Given the description of an element on the screen output the (x, y) to click on. 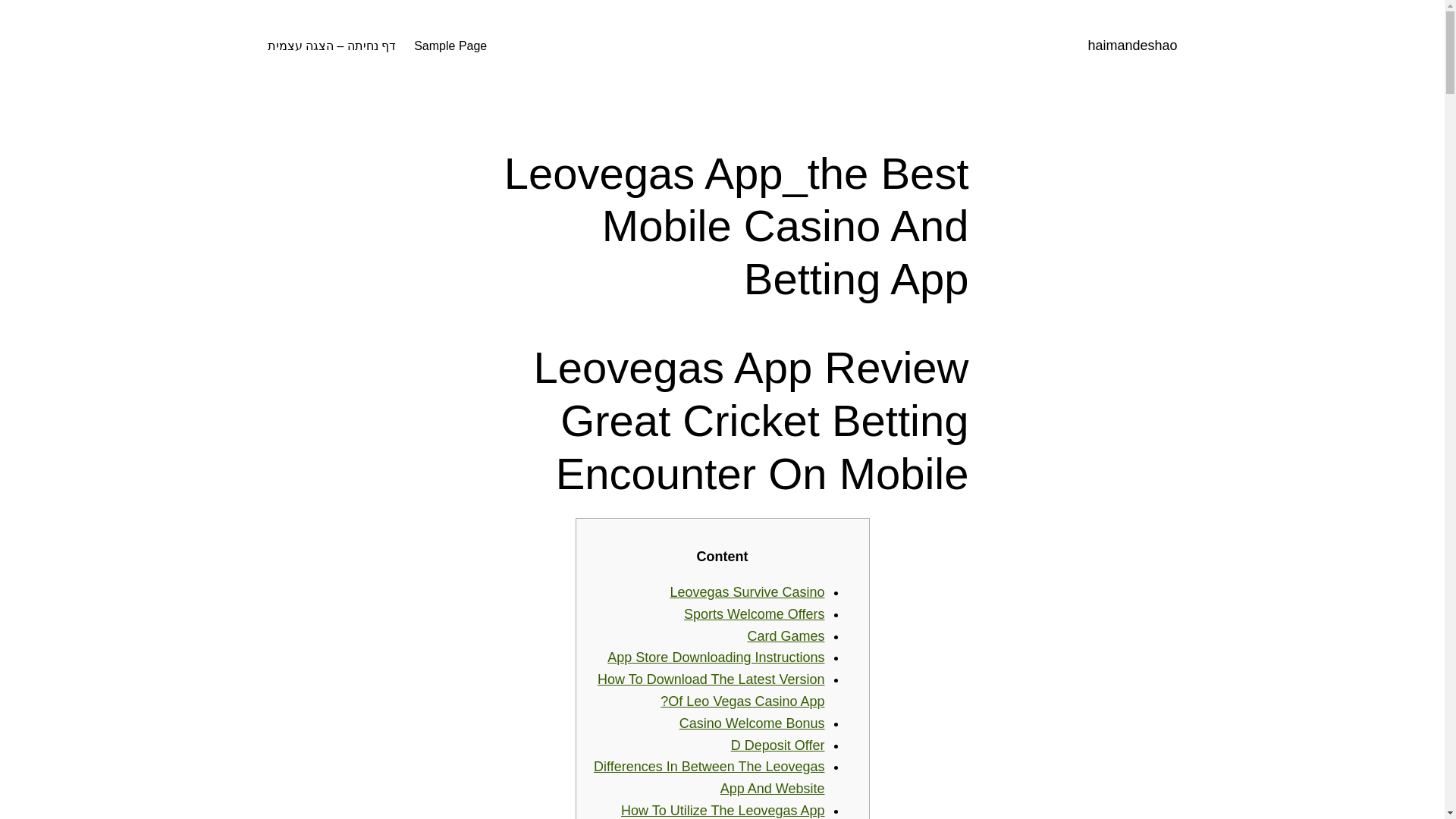
Differences In Between The Leovegas App And Website (709, 777)
How To Utilize The Leovegas App (723, 810)
D Deposit Offer (777, 744)
Card Games (785, 635)
Sports Welcome Offers (754, 613)
Casino Welcome Bonus (752, 723)
haimandeshao (1131, 45)
Sample Page (449, 46)
How To Download The Latest Version Of Leo Vegas Casino App? (710, 690)
App Store Downloading Instructions (715, 657)
Leovegas Survive Casino (746, 591)
